Given the description of an element on the screen output the (x, y) to click on. 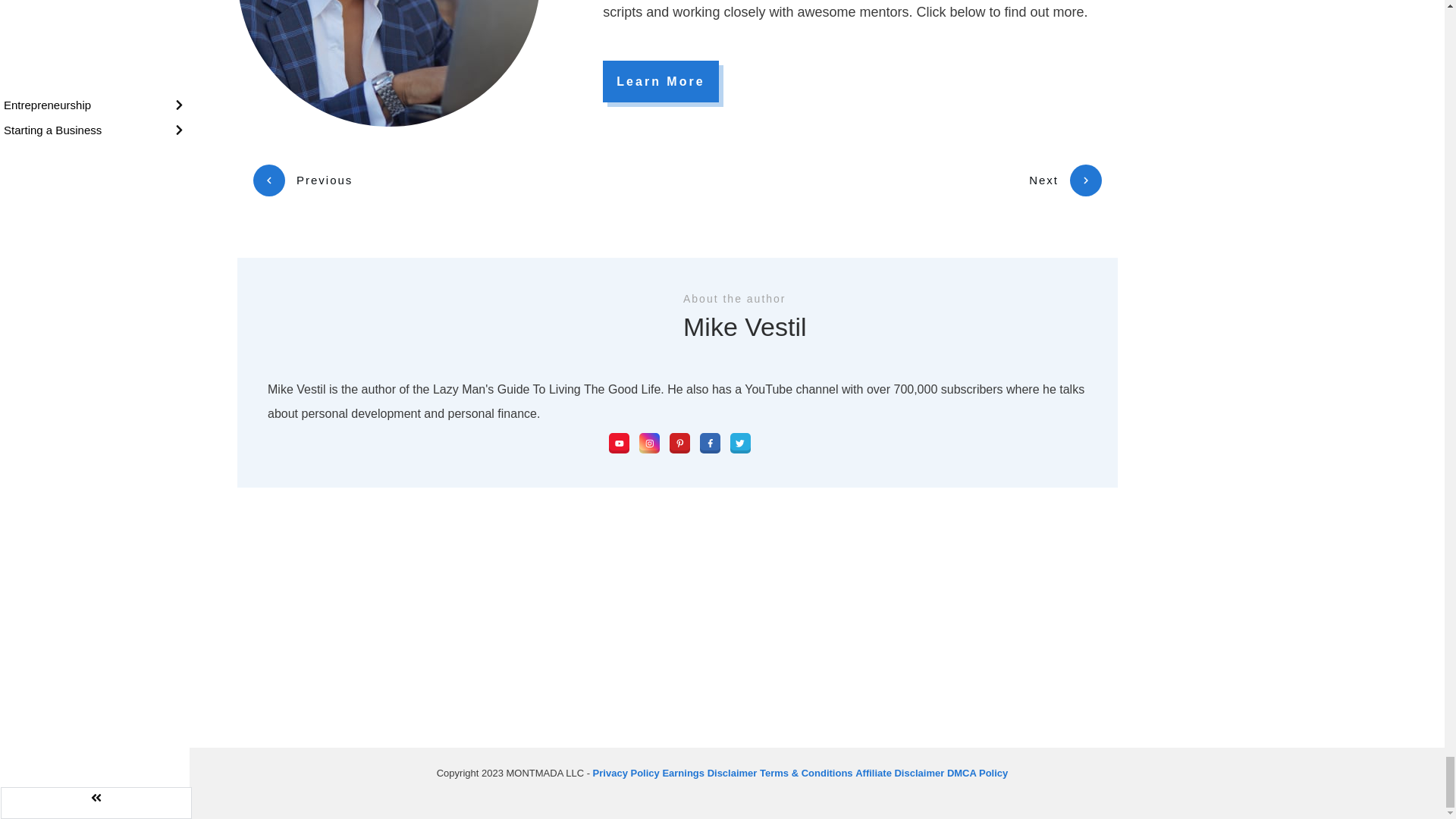
mike-vestil-blog (388, 63)
